Given the description of an element on the screen output the (x, y) to click on. 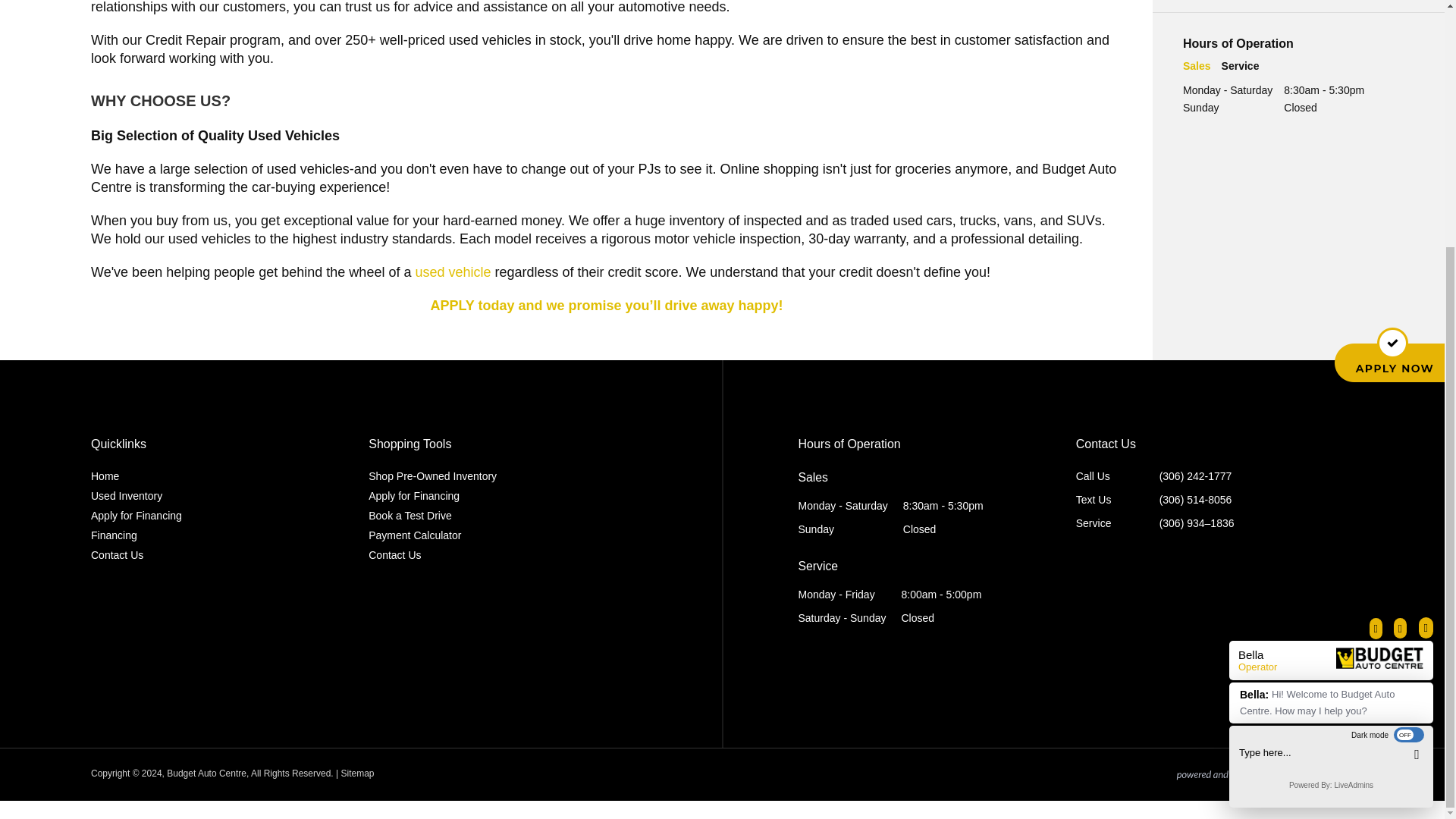
Apply for Financing (229, 515)
Home (229, 476)
Powered and Designed By Edealer (1264, 774)
Shop Pre-Owned Inventory (507, 476)
Book a Test Drive (507, 515)
Contact Us (507, 555)
Apply for Financing (507, 496)
Used Inventory (229, 496)
Financing (229, 535)
Payment Calculator (507, 535)
Contact Us (229, 555)
used vehicle (452, 272)
